Given the description of an element on the screen output the (x, y) to click on. 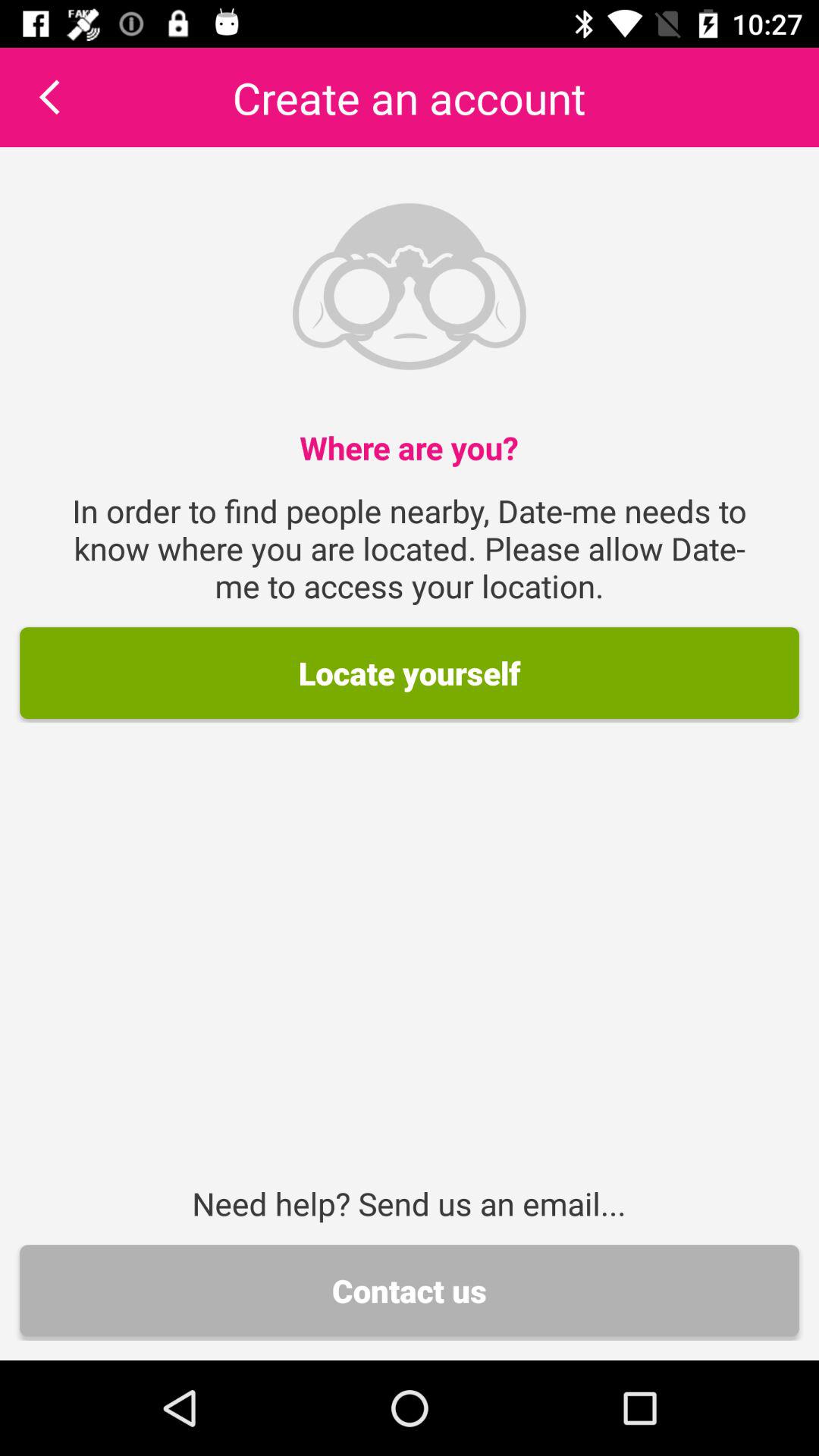
turn on the item above need help send icon (409, 672)
